Given the description of an element on the screen output the (x, y) to click on. 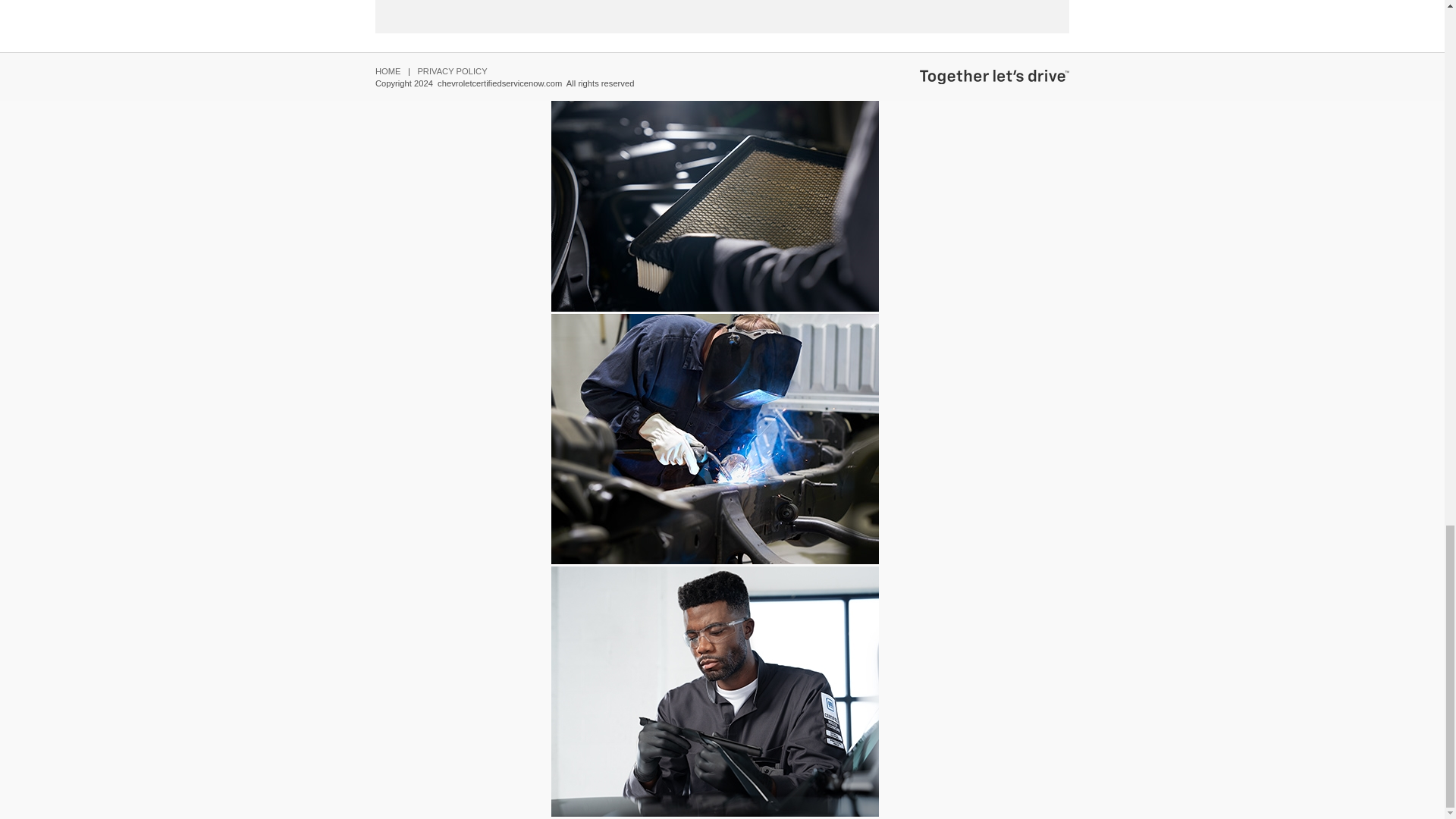
PRIVACY POLICY (451, 71)
HOME (388, 71)
